Given the description of an element on the screen output the (x, y) to click on. 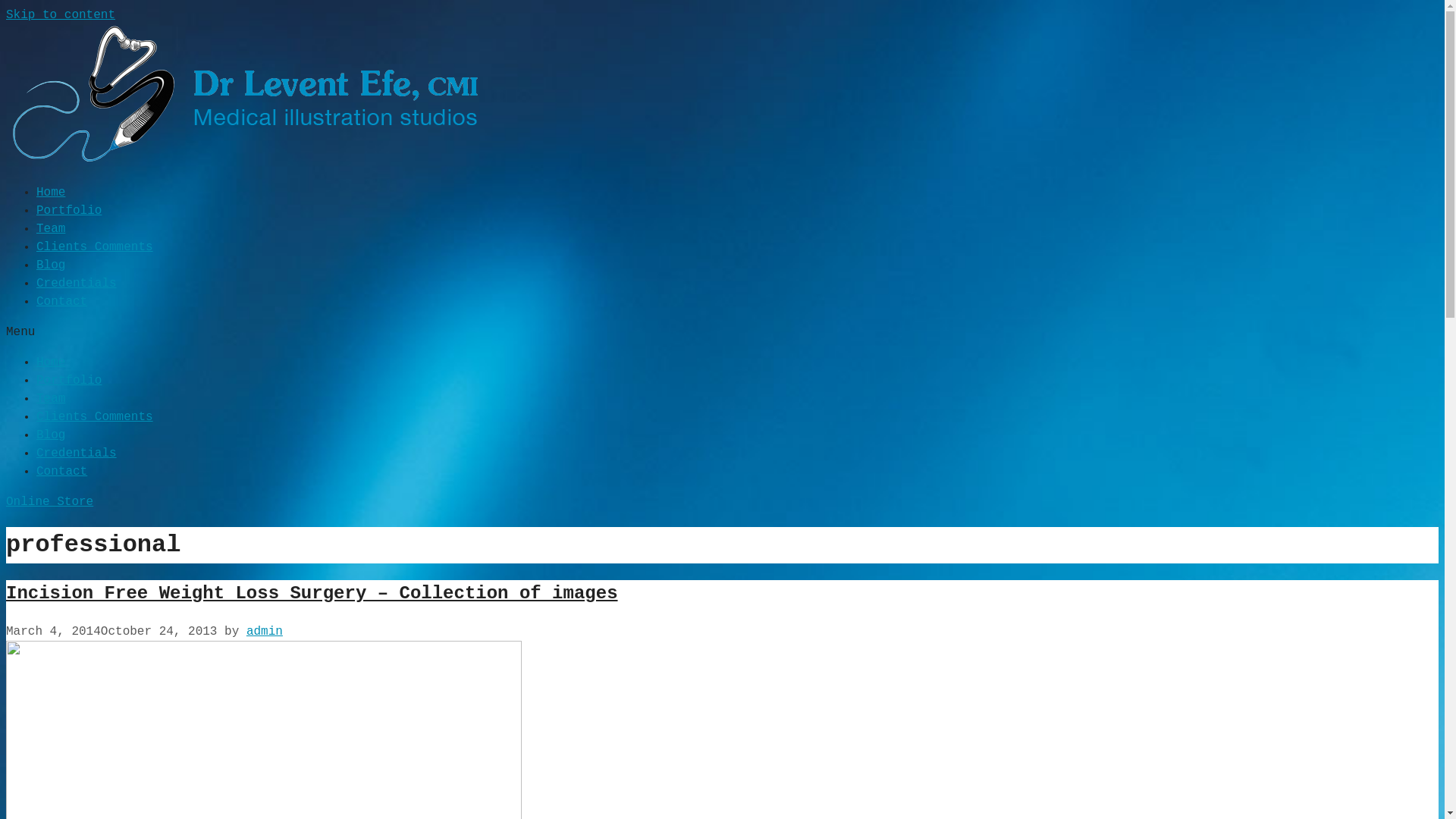
Clients Comments Element type: text (94, 416)
Portfolio Element type: text (68, 210)
Credentials Element type: text (76, 453)
Portfolio Element type: text (68, 380)
Team Element type: text (50, 398)
Team Element type: text (50, 228)
Contact Element type: text (61, 301)
Home Element type: text (50, 192)
Clients Comments Element type: text (94, 247)
Blog Element type: text (50, 265)
Home Element type: text (50, 362)
Blog Element type: text (50, 435)
Credentials Element type: text (76, 283)
Skip to content Element type: text (60, 14)
admin Element type: text (264, 631)
Contact Element type: text (61, 471)
Online Store Element type: text (49, 501)
